Given the description of an element on the screen output the (x, y) to click on. 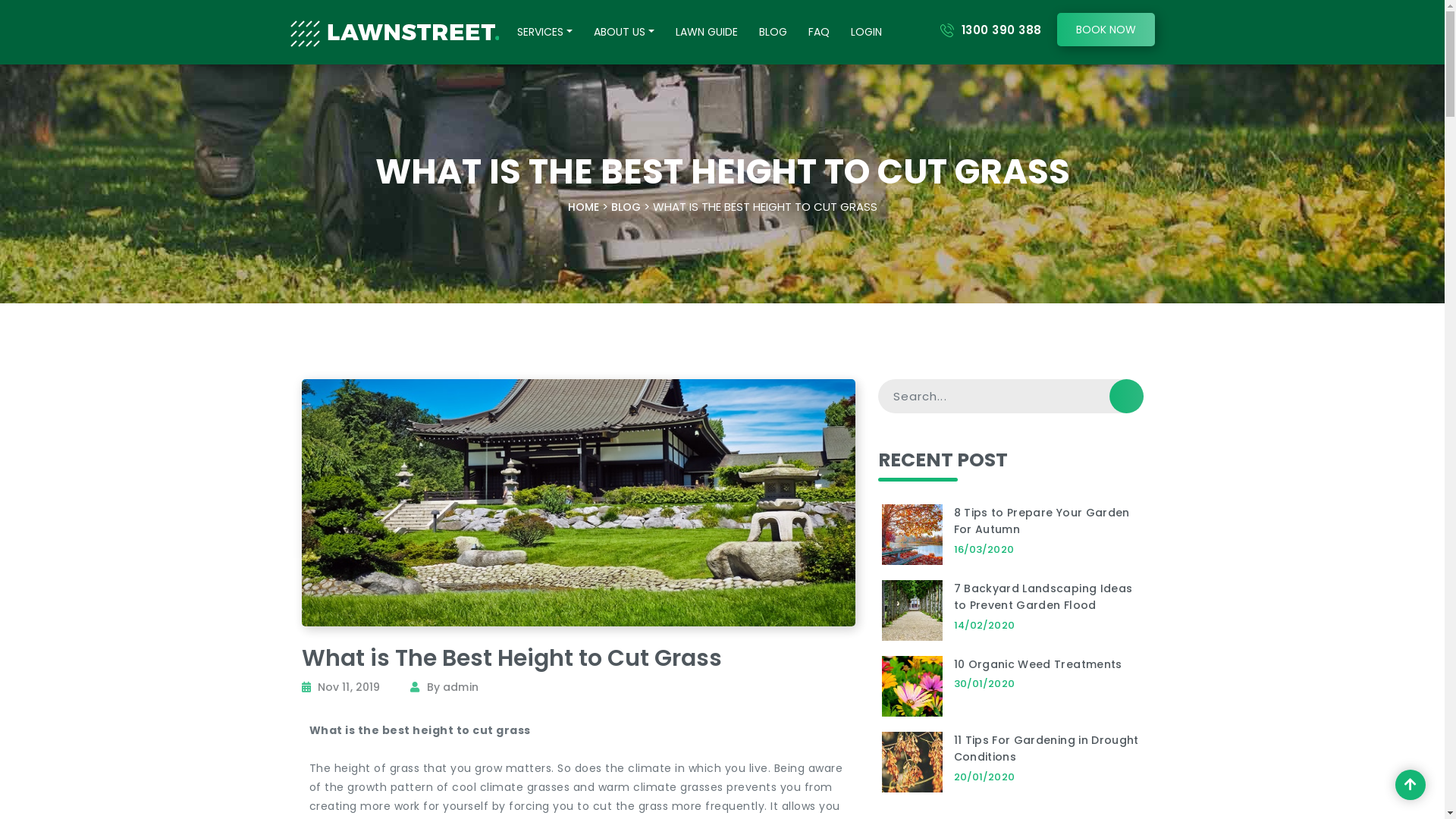
HOME Element type: text (582, 206)
FAQ Element type: text (818, 34)
By admin Element type: text (452, 686)
SERVICES Element type: text (544, 34)
BLOG Element type: text (772, 34)
What is The Best Height to Cut Grass Element type: text (511, 658)
LAWN GUIDE Element type: text (705, 34)
BOOK NOW Element type: text (1105, 29)
ABOUT US Element type: text (622, 34)
7 Backyard Landscaping Ideas to Prevent Garden Flood Element type: text (1042, 596)
Nov 11, 2019 Element type: text (348, 686)
8 Tips to Prepare Your Garden For Autumn Element type: text (1041, 521)
10 Organic Weed Treatments Element type: text (1037, 663)
BLOG Element type: text (625, 206)
LOGIN Element type: text (866, 34)
11 Tips For Gardening in Drought Conditions Element type: text (1046, 748)
1300 390 388 Element type: text (1001, 29)
